Given the description of an element on the screen output the (x, y) to click on. 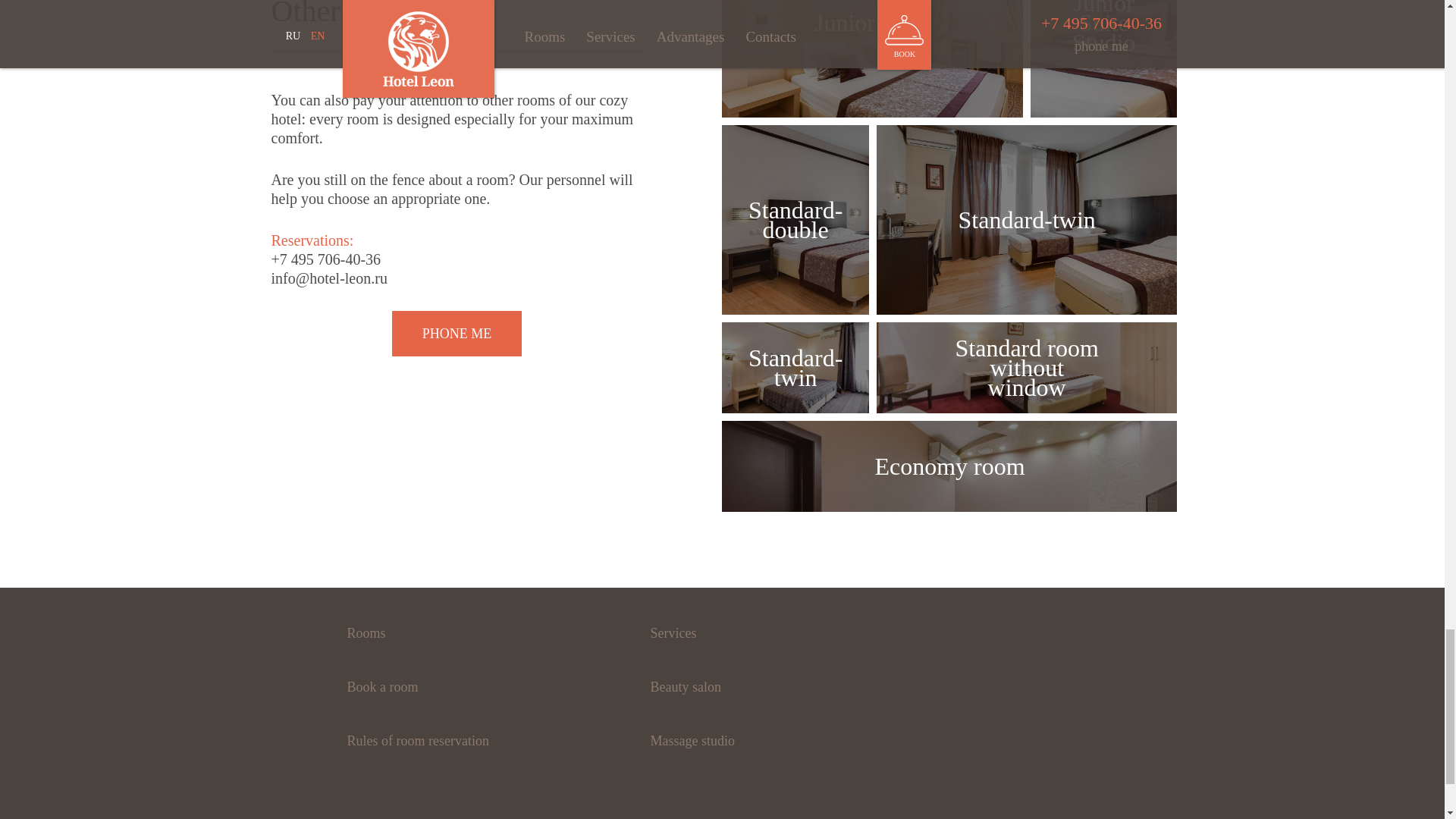
PHONE ME (456, 333)
Economy room (949, 465)
Rooms (365, 632)
Junior Suite (872, 58)
Massage studio (692, 740)
Standard-double (794, 219)
Rules of room reservation (416, 740)
Standard-twin (794, 367)
Junior Suite Studio (1103, 58)
Standard room without window (1026, 367)
Standard-twin (1026, 219)
Beauty salon (684, 686)
Book a room (381, 686)
Services (672, 632)
